Given the description of an element on the screen output the (x, y) to click on. 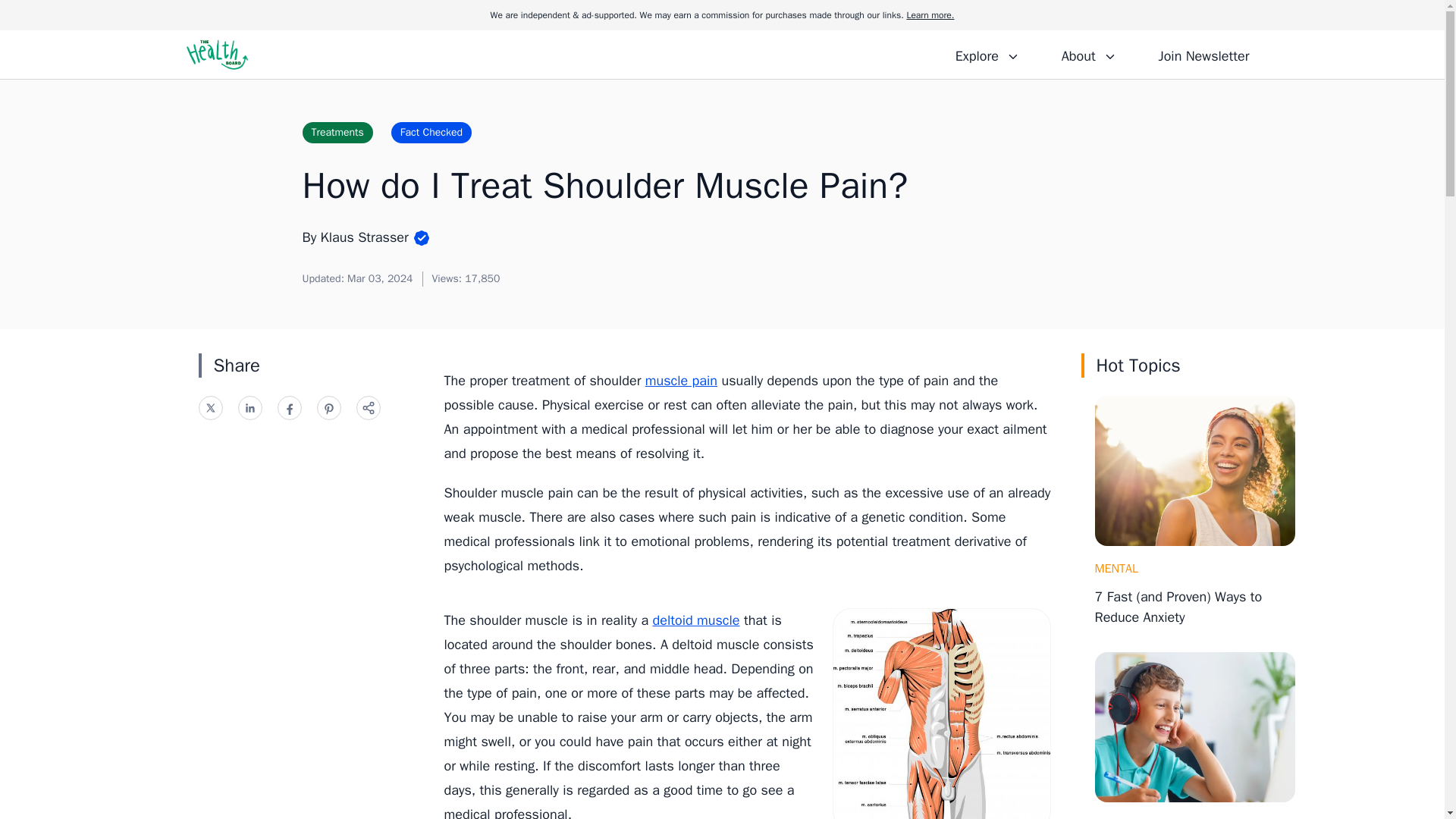
muscle pain (681, 380)
Explore (986, 54)
Join Newsletter (1202, 54)
Treatments (336, 132)
About (1088, 54)
Learn more. (929, 15)
Fact Checked (431, 132)
deltoid muscle (695, 619)
